Given the description of an element on the screen output the (x, y) to click on. 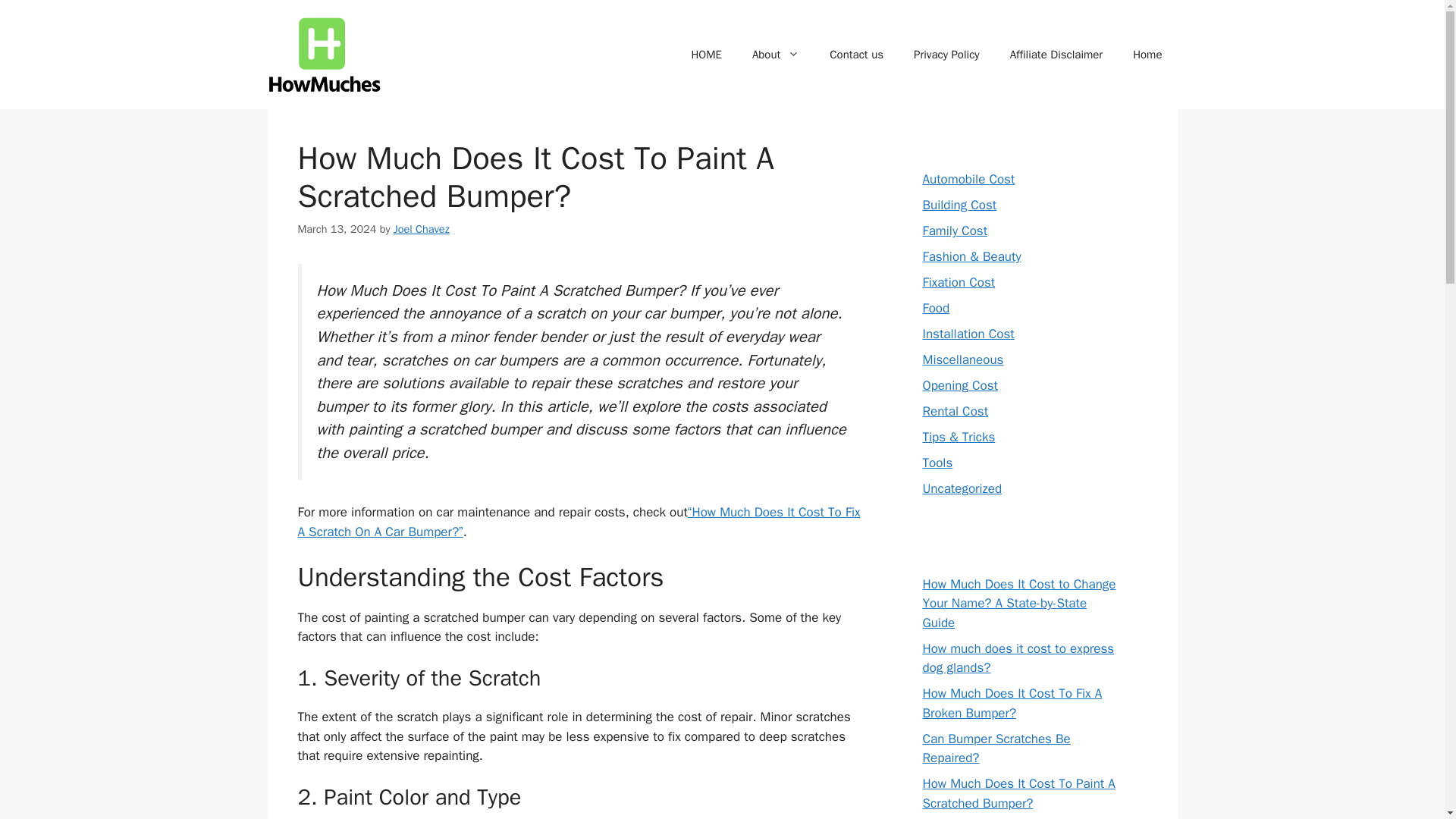
About (774, 53)
How Much Does It Cost To Paint A Scratched Bumper? (1018, 793)
Joel Chavez (421, 228)
Privacy Policy (946, 53)
Food (935, 308)
Rental Cost (954, 411)
Installation Cost (967, 333)
Fixation Cost (957, 282)
Building Cost (958, 204)
HOME (705, 53)
Uncategorized (961, 488)
View all posts by Joel Chavez (421, 228)
How much does it cost to express dog glands? (1017, 658)
How Much Does It Cost To Fix A Broken Bumper? (1011, 703)
